Given the description of an element on the screen output the (x, y) to click on. 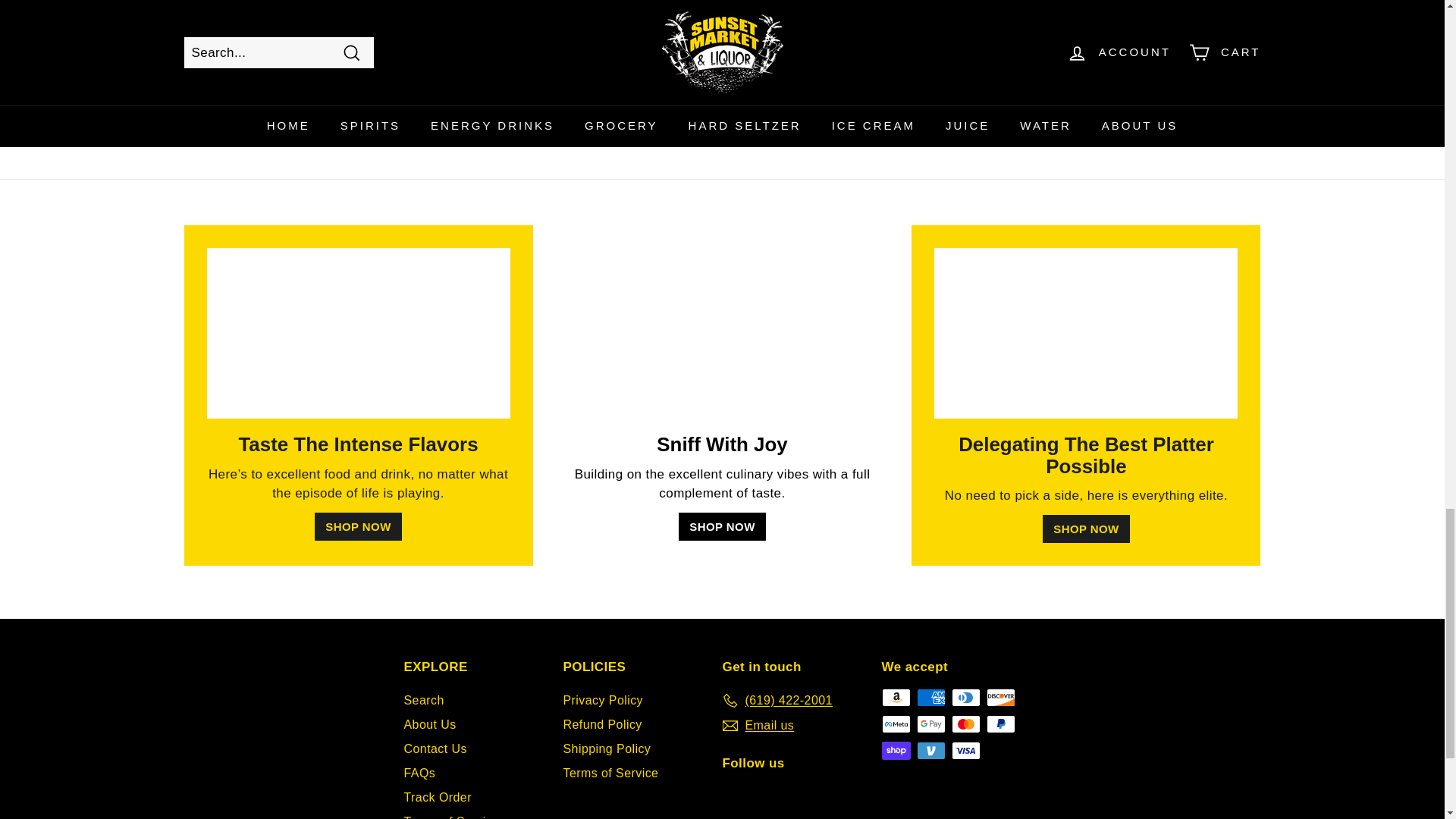
Mastercard (964, 723)
Google Pay (929, 723)
Venmo (929, 751)
Amazon (895, 697)
Shop Pay (895, 751)
Diners Club (964, 697)
Meta Pay (895, 723)
Discover (999, 697)
American Express (929, 697)
PayPal (999, 723)
